Given the description of an element on the screen output the (x, y) to click on. 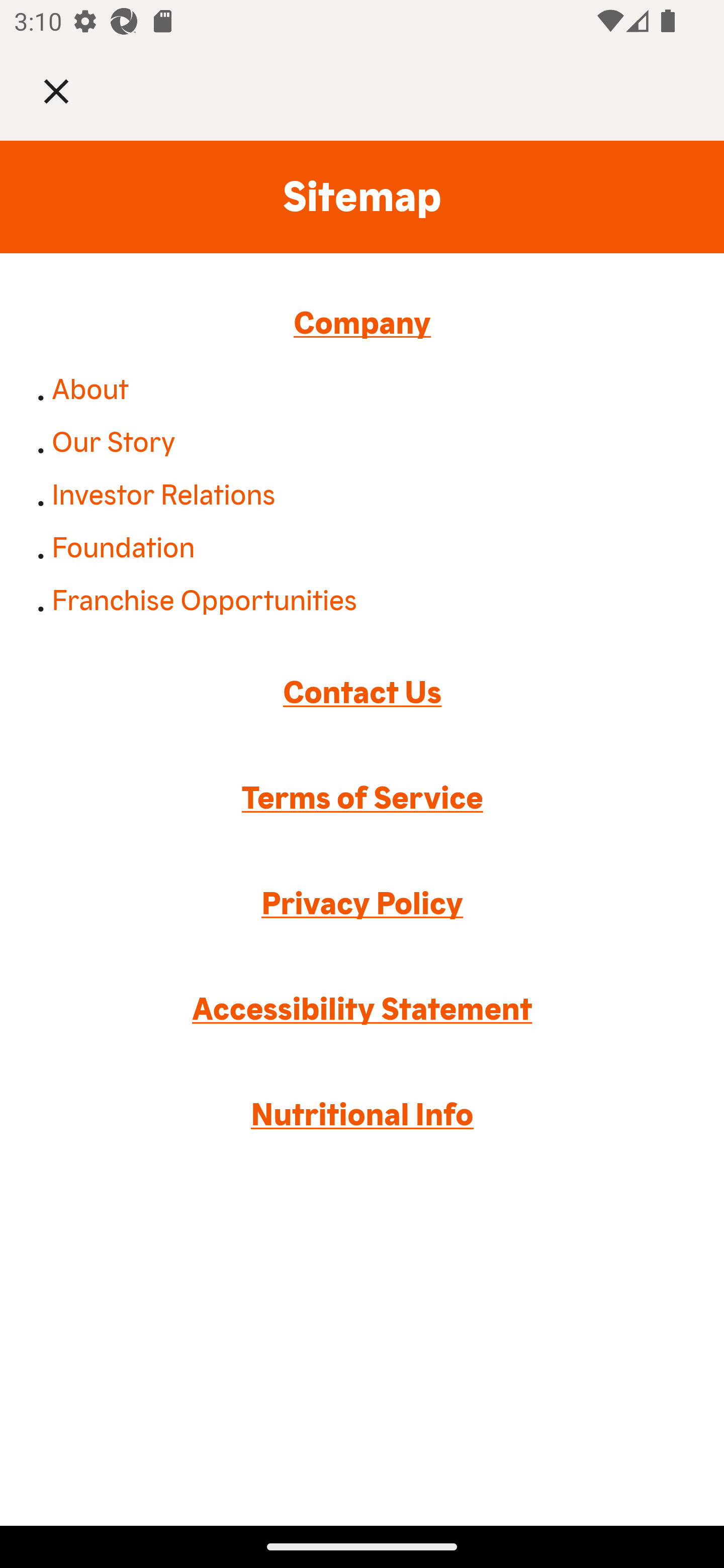
 (70, 90)
